Given the description of an element on the screen output the (x, y) to click on. 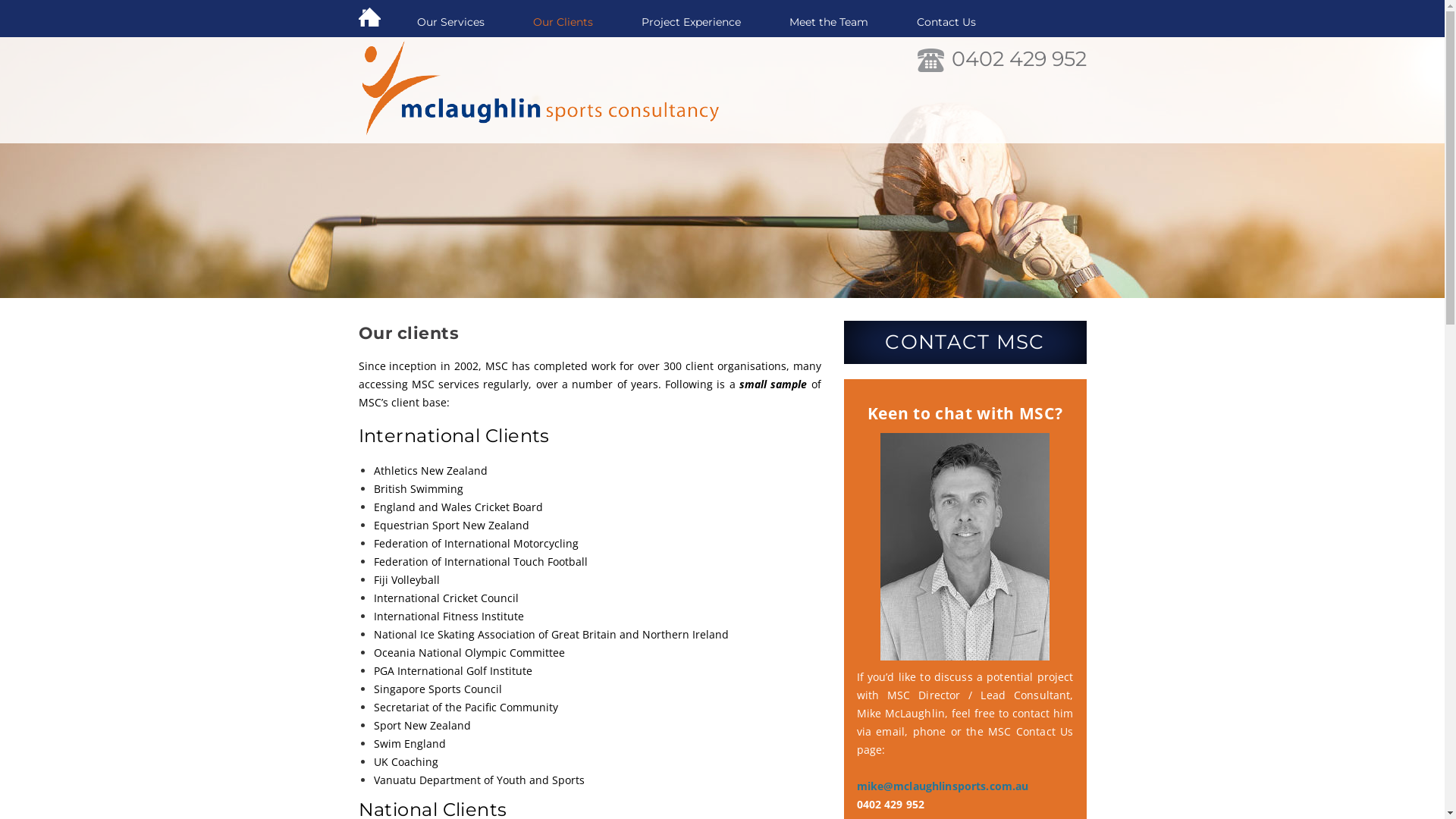
Home Element type: text (374, 22)
Meet the Team Element type: text (827, 22)
mike@mclaughlinsports.com.au Element type: text (942, 785)
Our Services Element type: text (450, 22)
Project Experience Element type: text (691, 22)
McLaughlin Sports Consultancy Element type: text (543, 90)
CONTACT MSC Element type: text (964, 342)
Our Clients Element type: text (562, 22)
Contact Us Element type: text (933, 22)
